Given the description of an element on the screen output the (x, y) to click on. 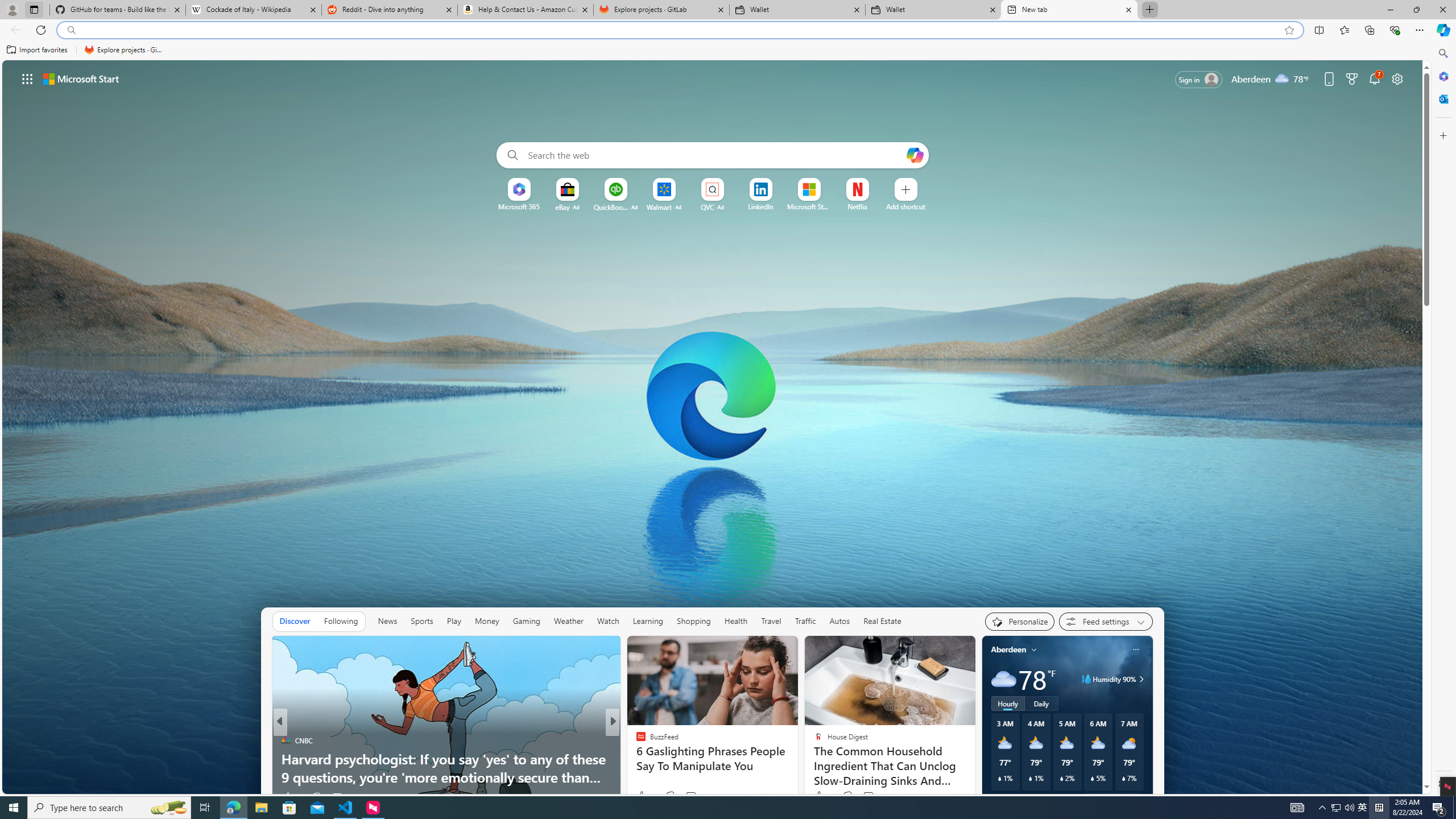
View comments 8 Comment (691, 797)
7 Ways to Stimulate Your Brain as You Age (796, 777)
View comments 2 Comment (695, 796)
